Given the description of an element on the screen output the (x, y) to click on. 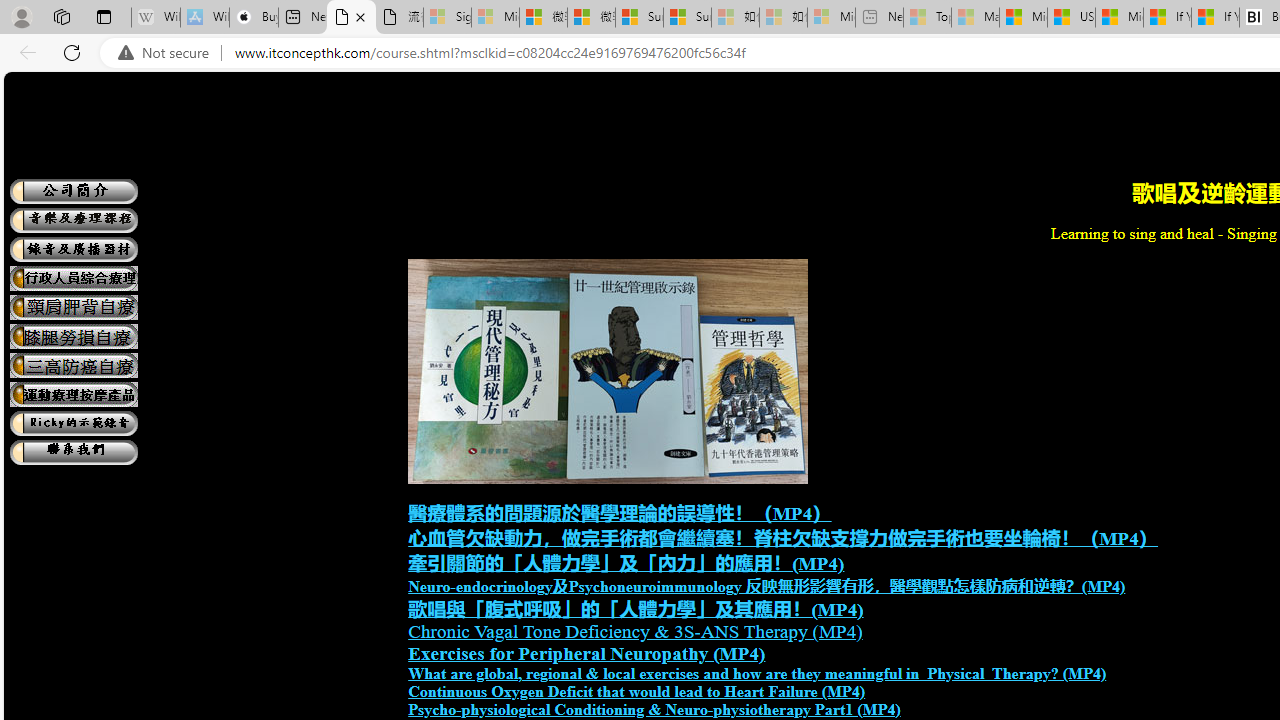
Marine life - MSN - Sleeping (975, 17)
Tab actions menu (104, 16)
New tab - Sleeping (879, 17)
Exercises for Peripheral Neuropathy (MP4) (586, 653)
Buy iPad - Apple (253, 17)
New tab (302, 17)
Workspaces (61, 16)
Close tab (360, 16)
US Heat Deaths Soared To Record High Last Year (1071, 17)
